Given the description of an element on the screen output the (x, y) to click on. 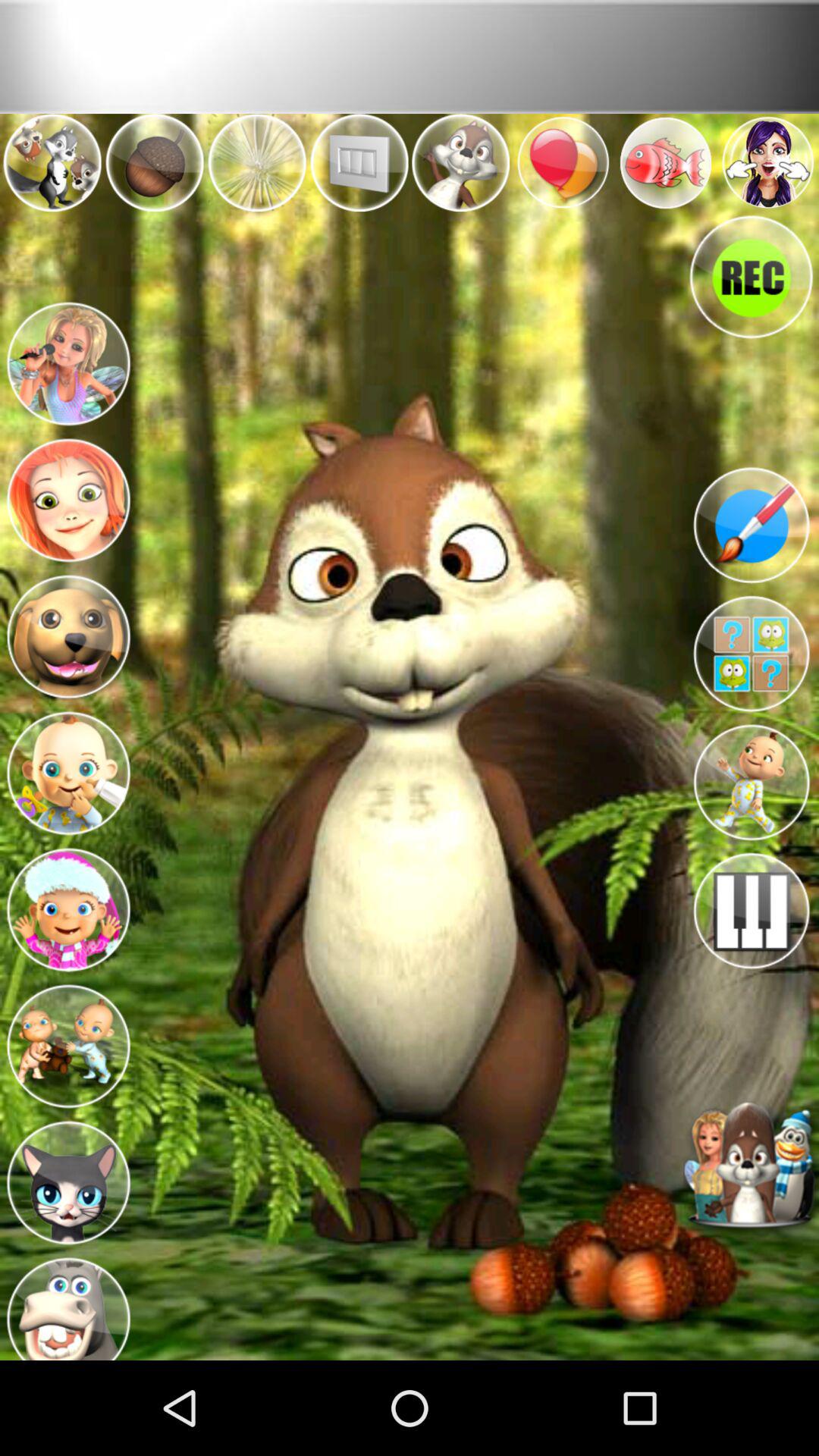
start talking with james squirrel (751, 1167)
